Given the description of an element on the screen output the (x, y) to click on. 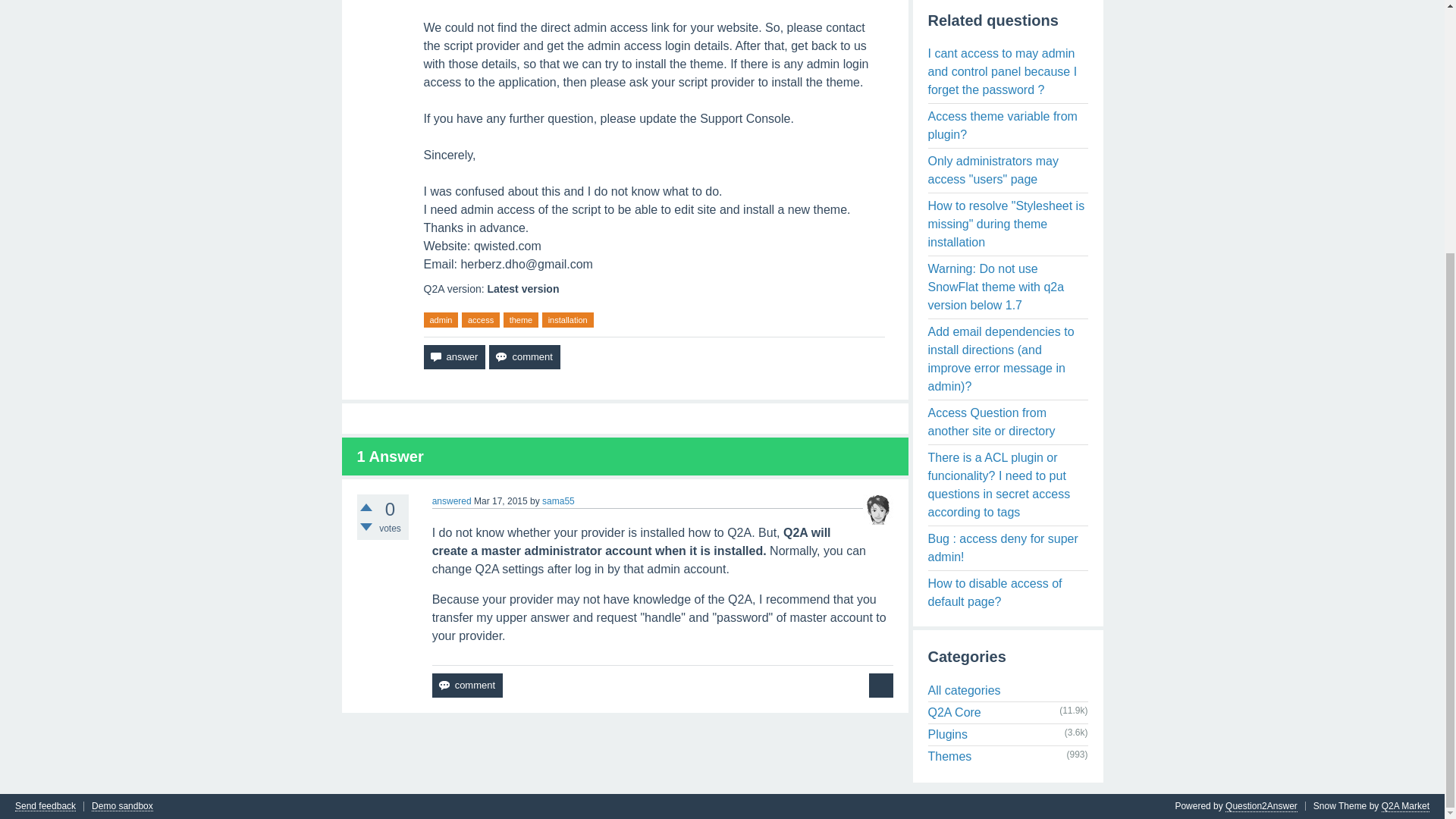
Ask a new question relating to this answer (881, 685)
ask related question (881, 685)
Answer this question (453, 356)
Questions about the Question2Answer platform. (954, 712)
access (480, 320)
answer (453, 356)
ask related question (881, 685)
answer (453, 356)
Click to vote down (365, 526)
comment (524, 356)
